Given the description of an element on the screen output the (x, y) to click on. 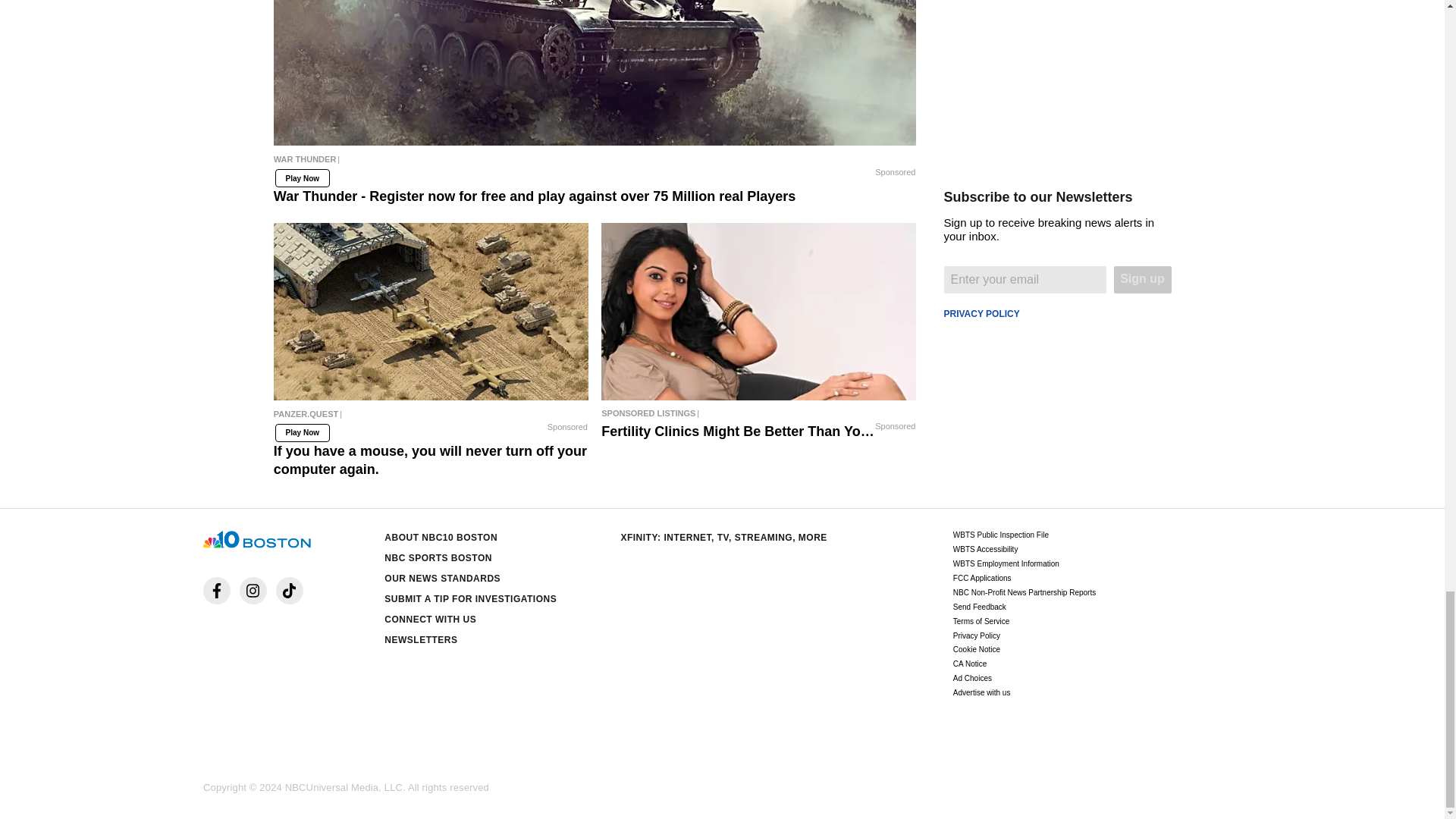
Fertility Clinics Might Be Better Than You Think (758, 311)
